Given the description of an element on the screen output the (x, y) to click on. 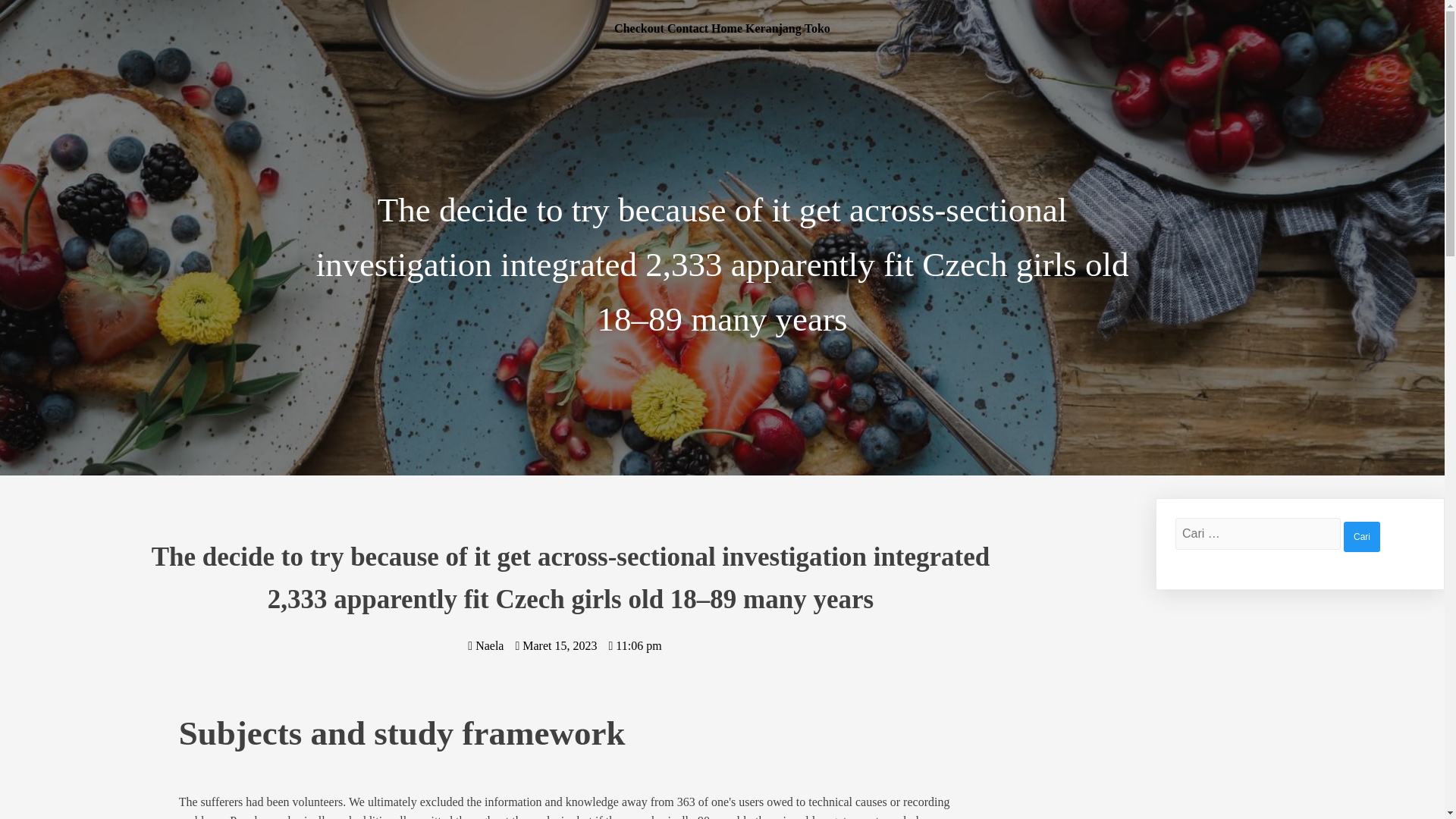
Cari (1361, 536)
Toko (817, 28)
Contact (686, 28)
Cari (1361, 536)
Home (726, 28)
Cari (1361, 536)
11:06 pm (634, 645)
Checkout (638, 28)
Naela (485, 645)
Maret 15, 2023 (555, 645)
